Given the description of an element on the screen output the (x, y) to click on. 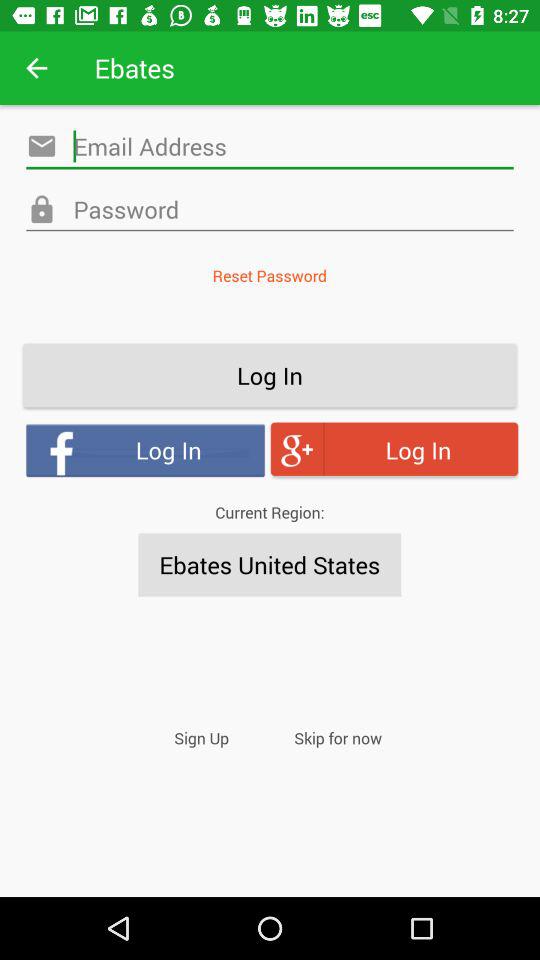
scroll to the skip for now (337, 737)
